Given the description of an element on the screen output the (x, y) to click on. 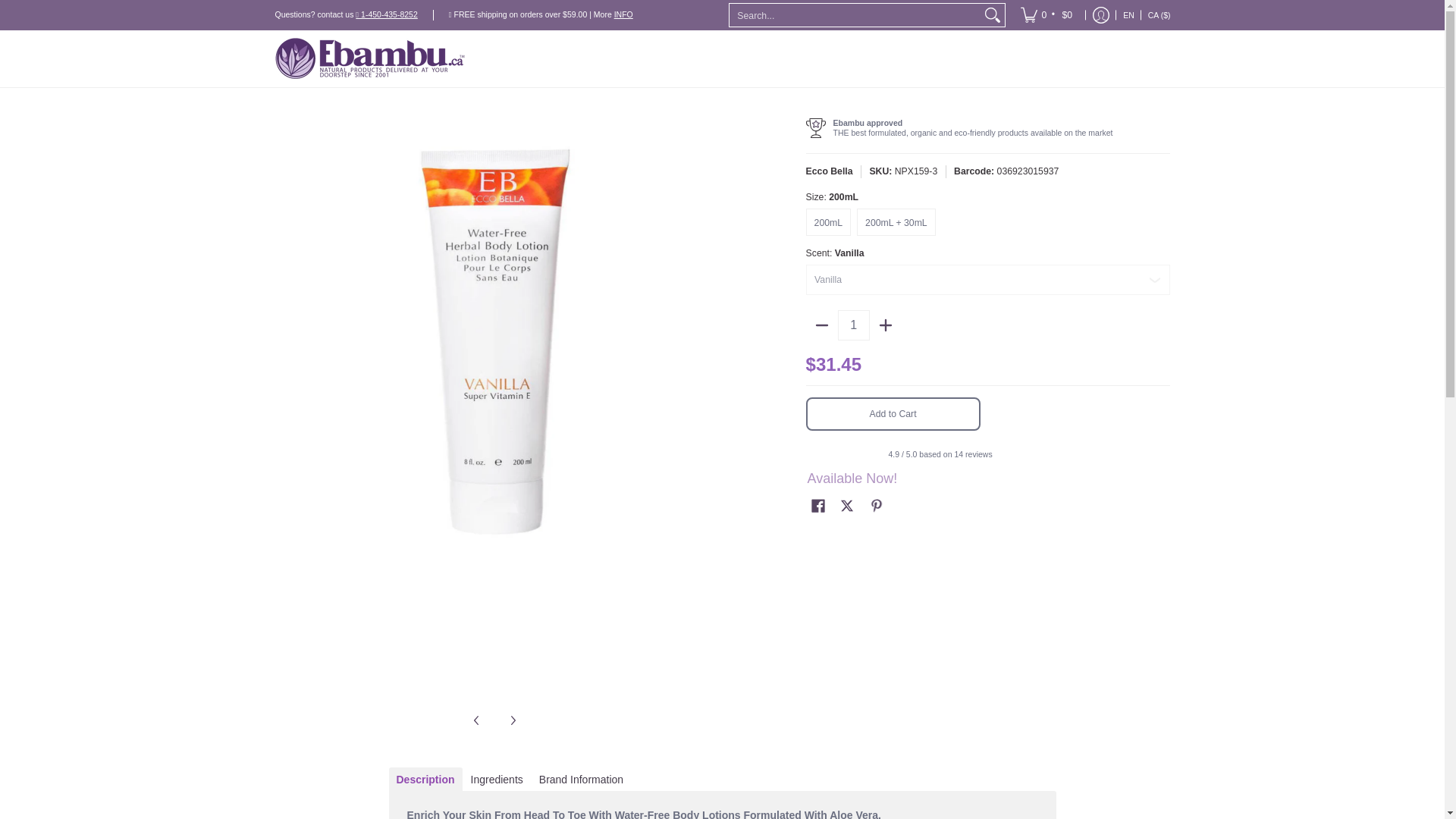
INFO (623, 13)
Cart (1047, 15)
Skip to Main Content (2, 9)
Ebambu.ca (369, 58)
Log in (1101, 15)
EN (1128, 15)
1 (853, 325)
200mL (828, 221)
Skip to Main Content (2, 9)
